Given the description of an element on the screen output the (x, y) to click on. 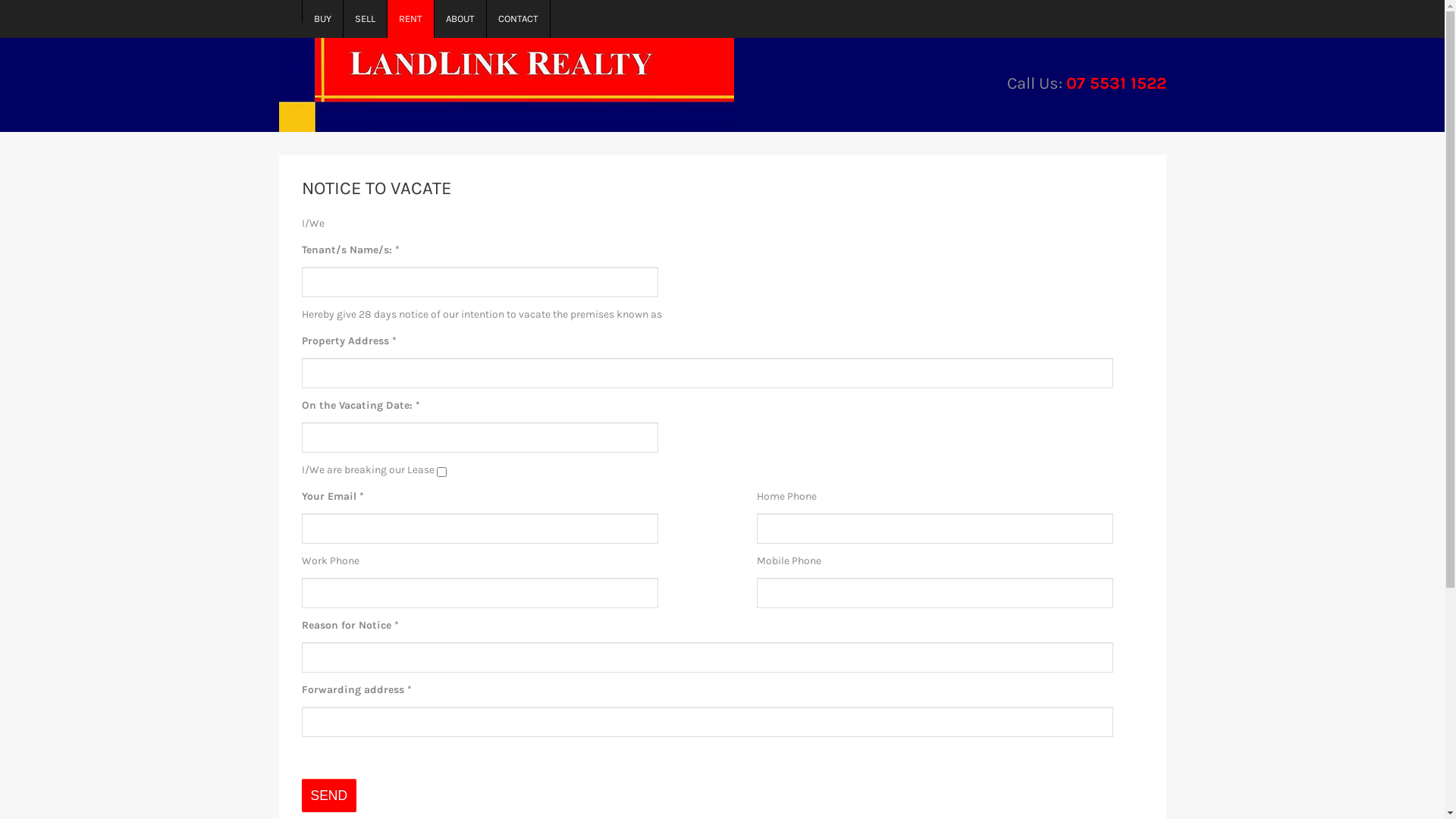
SEND Element type: text (329, 795)
BUY Element type: text (321, 18)
RENT Element type: text (409, 18)
CONTACT Element type: text (518, 18)
ABOUT Element type: text (459, 18)
07 5531 1522 Element type: text (1116, 83)
SELL Element type: text (364, 18)
